Given the description of an element on the screen output the (x, y) to click on. 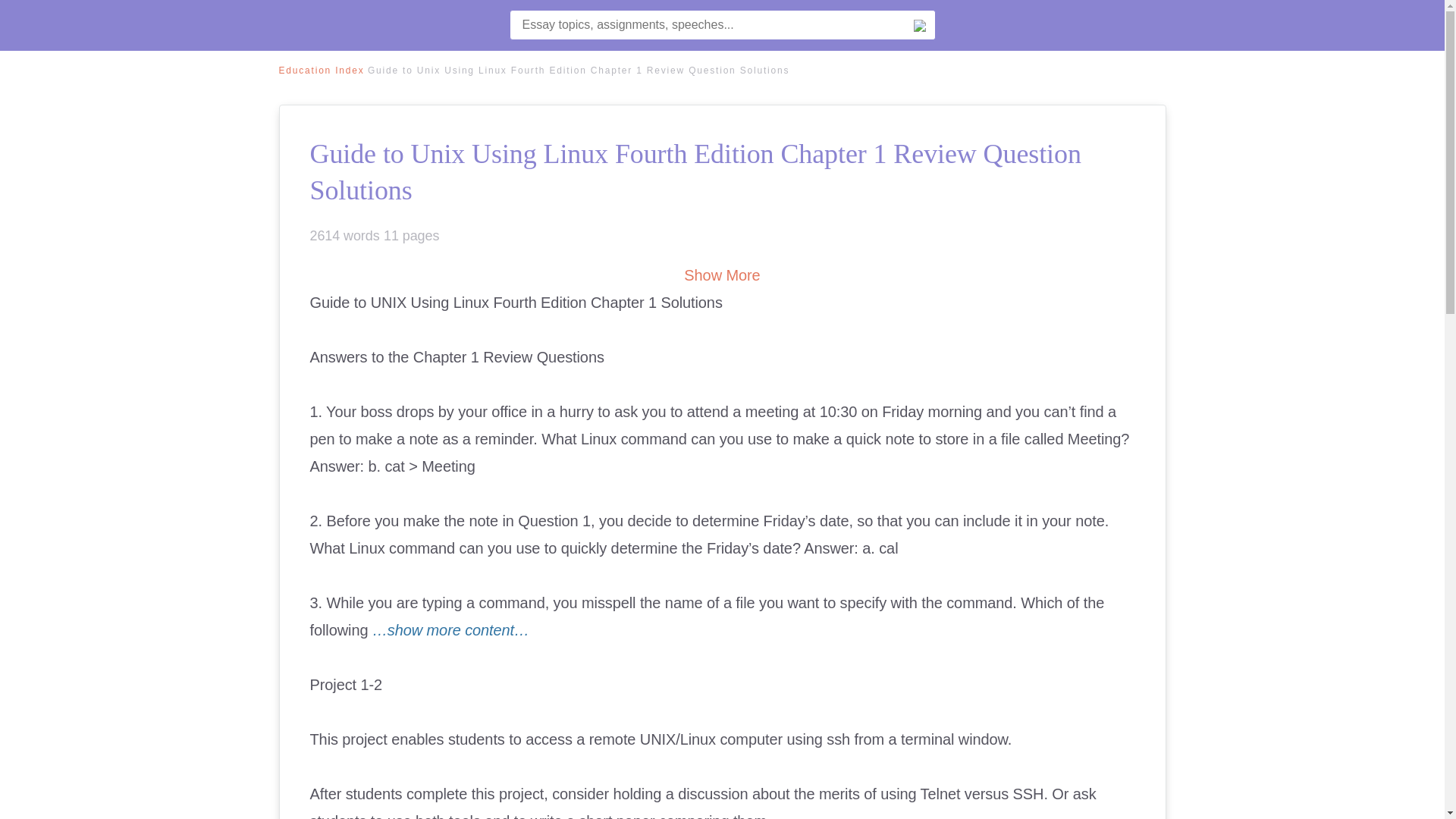
Show More (722, 274)
Education Index (322, 70)
